Given the description of an element on the screen output the (x, y) to click on. 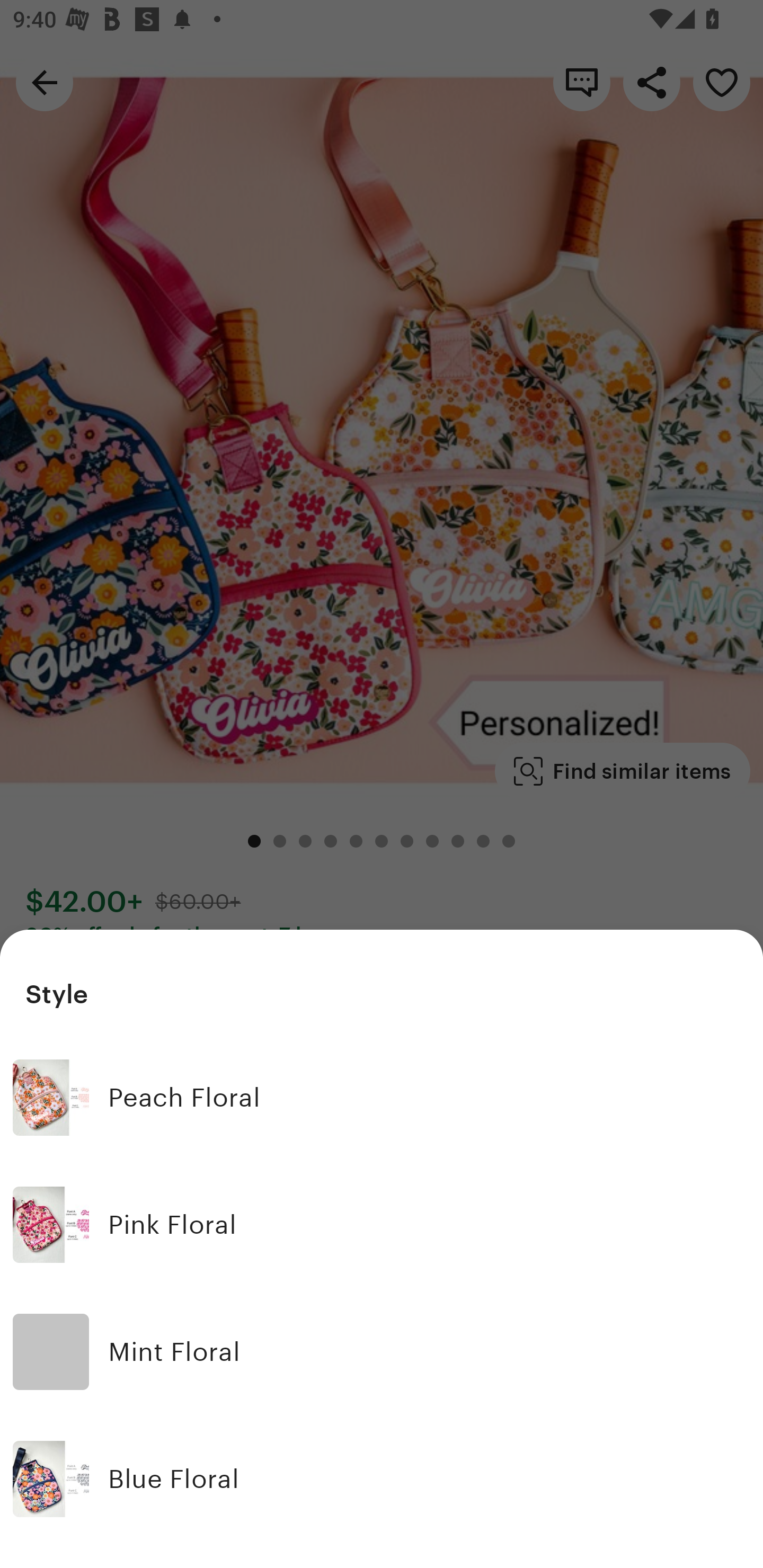
Peach Floral (381, 1097)
Pink Floral (381, 1224)
Mint Floral (381, 1351)
Blue Floral (381, 1478)
